Given the description of an element on the screen output the (x, y) to click on. 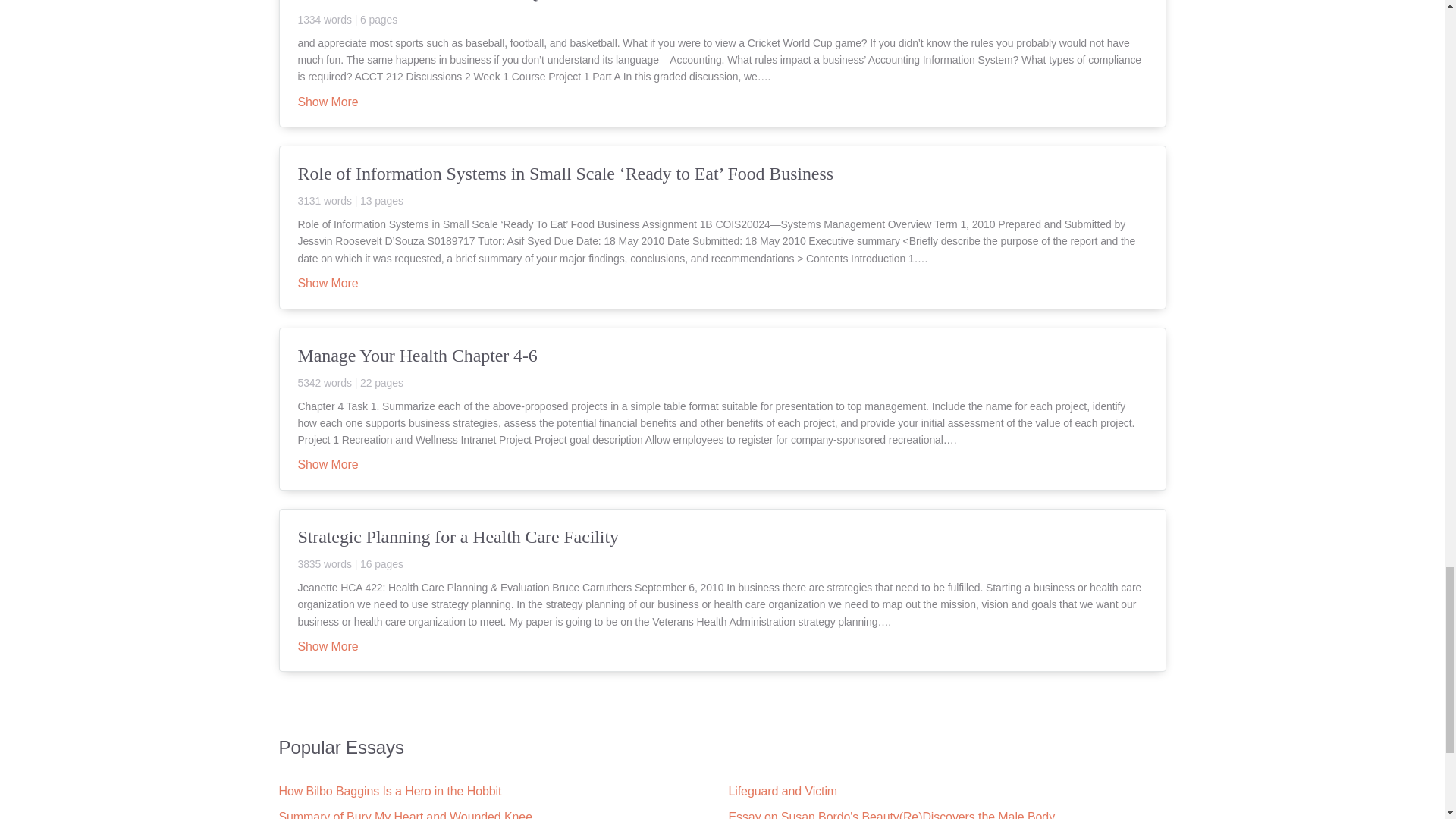
Show More (327, 284)
Lifeguard and Victim (782, 790)
Summary of Bury My Heart and Wounded Knee (405, 814)
How Bilbo Baggins Is a Hero in the Hobbit (390, 790)
Lifeguard and Victim (782, 790)
Show More (327, 102)
Acct 212 Week 1-8 Discussion Questions (722, 12)
How Bilbo Baggins Is a Hero in the Hobbit (390, 790)
Show More (327, 465)
Summary of Bury My Heart and Wounded Knee (405, 814)
Show More (327, 647)
Manage Your Health Chapter 4-6 (722, 366)
Strategic Planning for a Health Care Facility (722, 547)
